Given the description of an element on the screen output the (x, y) to click on. 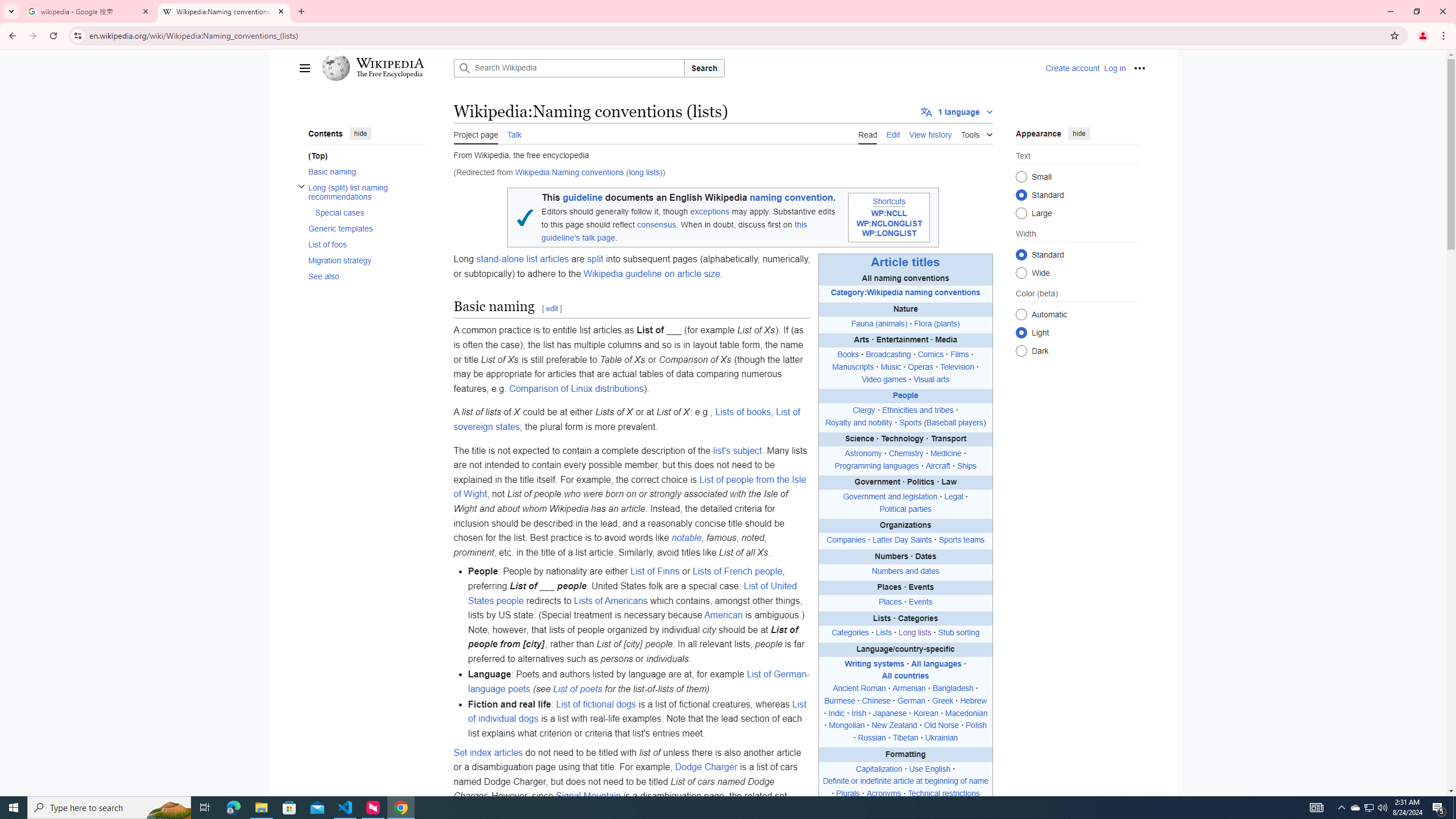
Books (848, 354)
List of individual dogs (636, 710)
Television (957, 366)
Fauna (animals) (878, 323)
Ethnicities and tribes (916, 409)
guideline (582, 197)
Comparison of Linux distributions (576, 388)
list's subject (736, 450)
Search Wikipedia (568, 67)
Wikipedia guideline on article size (651, 273)
Companies (846, 539)
List of fictional dogs (596, 703)
Create account (1072, 67)
Chemistry (905, 453)
